Given the description of an element on the screen output the (x, y) to click on. 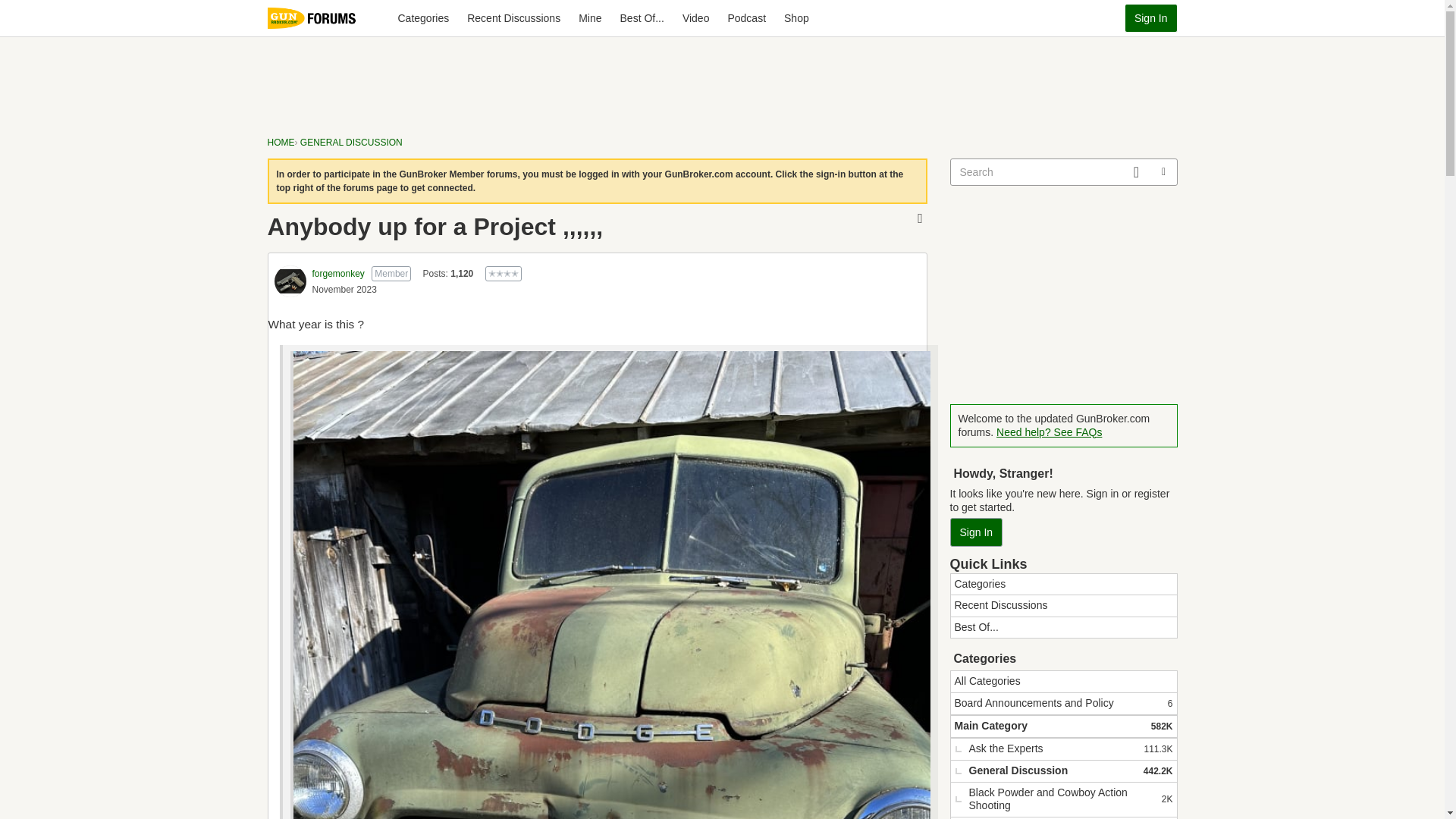
3rd party ad content (722, 79)
November 30, 2023 8:20PM (345, 289)
Shop (796, 17)
Podcast (745, 17)
Video (695, 17)
GENERAL DISCUSSION (351, 142)
Sign In (1150, 18)
Level 4 (502, 273)
Best Of... (641, 17)
forgemonkey (513, 17)
Mine (339, 273)
forgemonkey (589, 17)
Categories (290, 281)
